Given the description of an element on the screen output the (x, y) to click on. 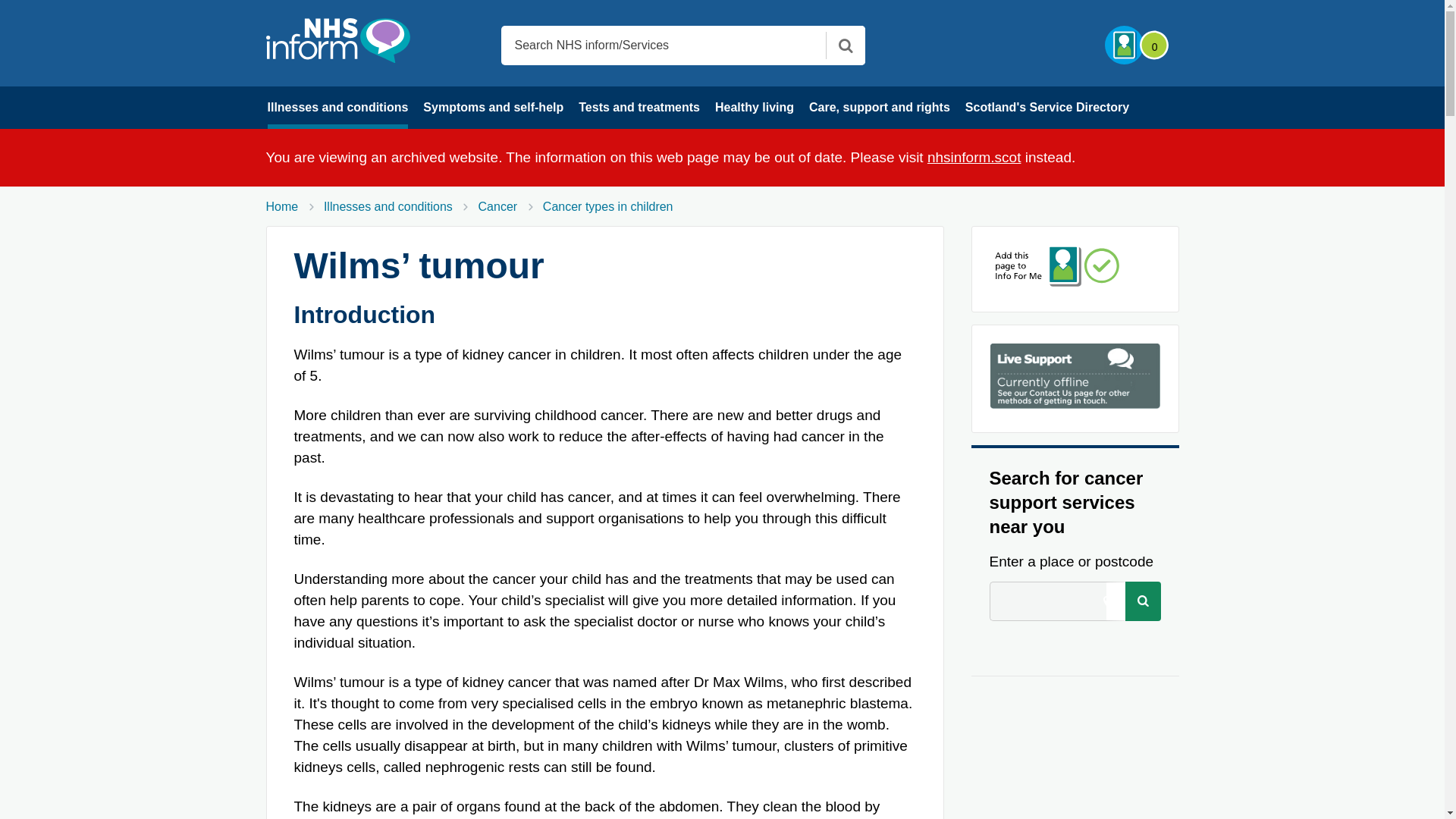
Cancer (498, 205)
Scotland's Service Directory (1047, 107)
Cancer types in children (607, 205)
Illnesses and conditions (387, 205)
Click here to navigate to the 'Tests and treatments' page. (639, 107)
Tests and treatments (639, 107)
Illnesses and conditions (336, 107)
0 (1135, 45)
Click here to navigate to the homepage. (336, 40)
